Given the description of an element on the screen output the (x, y) to click on. 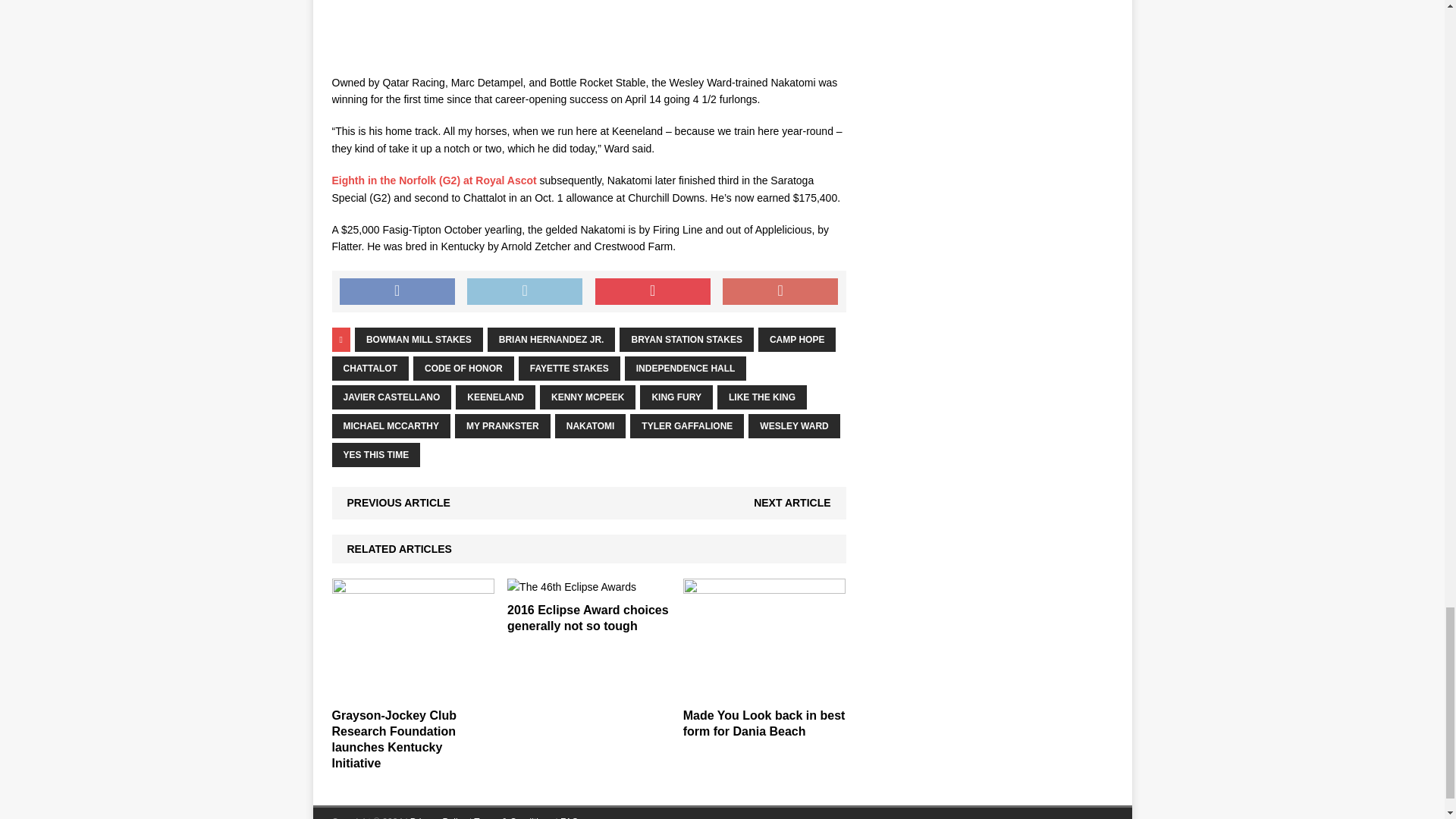
2016 Eclipse Award choices generally not so tough (587, 617)
2016 Eclipse Award choices generally not so tough (571, 586)
Pin This Post (652, 291)
Share on Facebook (396, 291)
Nakatomi wins the 2021 Bowman Mill at Keeneland (588, 29)
Tweet This Post (524, 291)
